Given the description of an element on the screen output the (x, y) to click on. 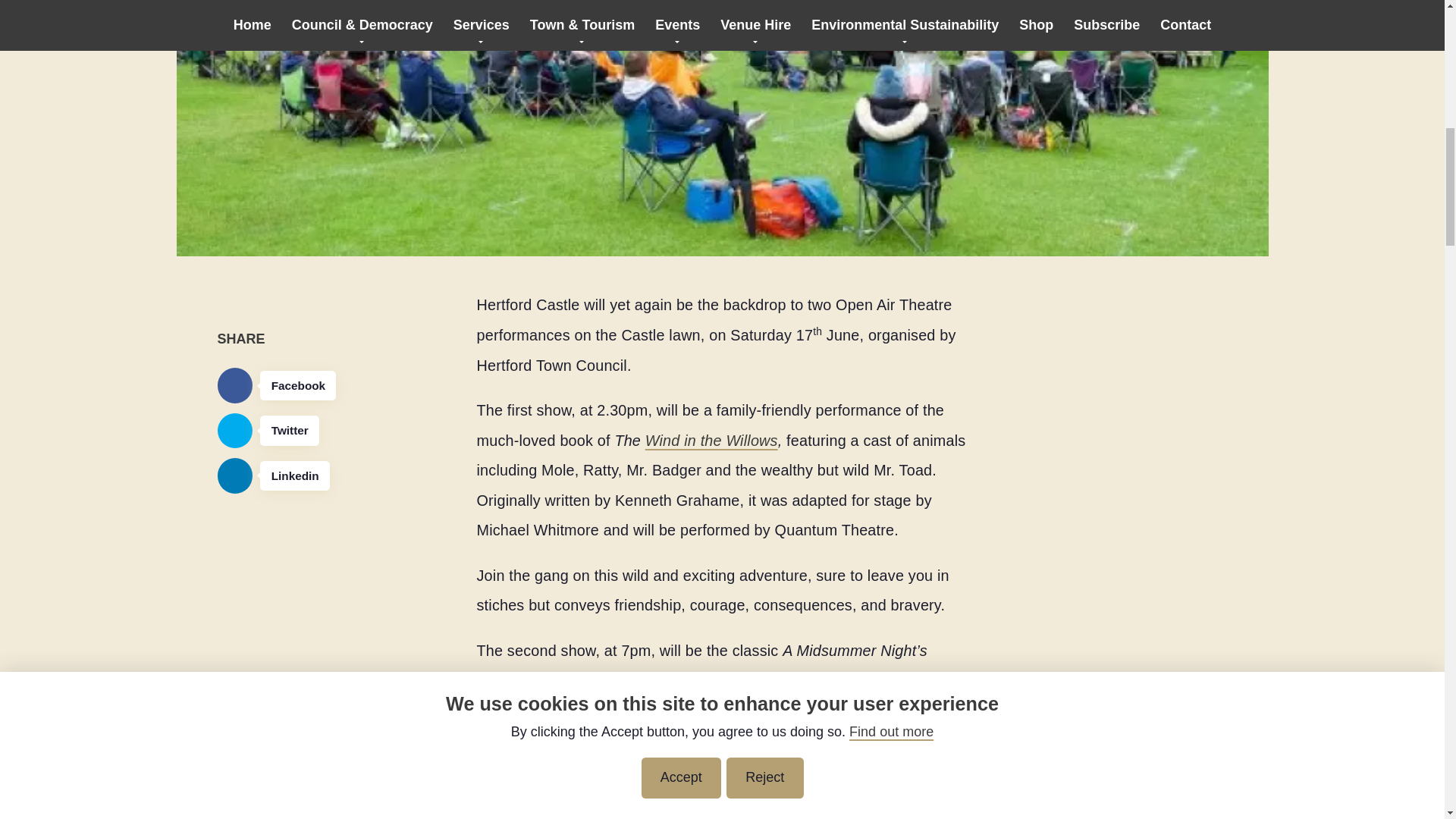
Wind in the Willows (711, 440)
Twitter (276, 430)
Facebook (276, 385)
Linkedin (276, 475)
Share on Facebook (276, 385)
